Given the description of an element on the screen output the (x, y) to click on. 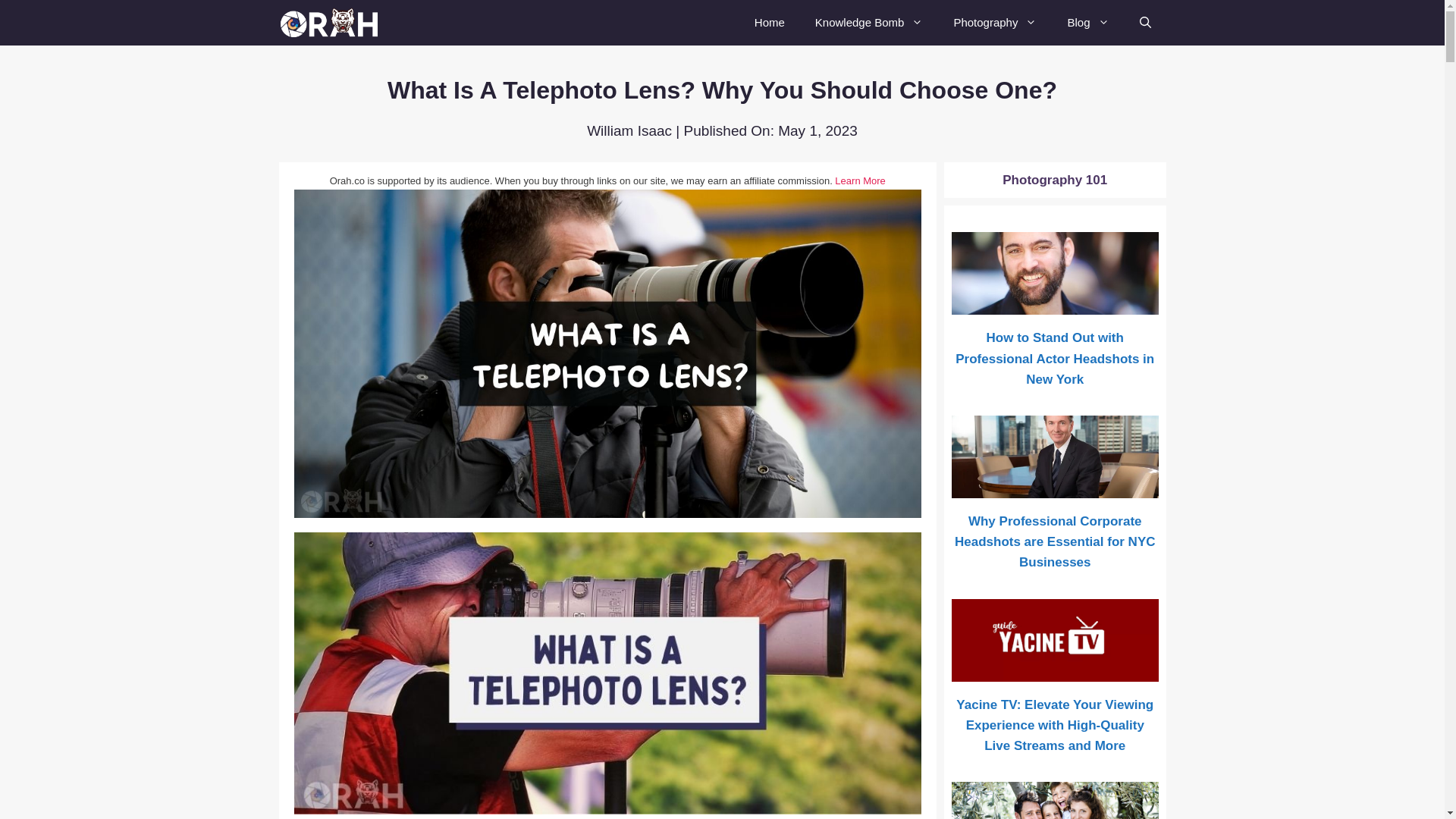
Knowledge Bomb (869, 22)
View all posts by William Isaac (628, 130)
Orah (335, 22)
Orah (331, 22)
Home (769, 22)
